Given the description of an element on the screen output the (x, y) to click on. 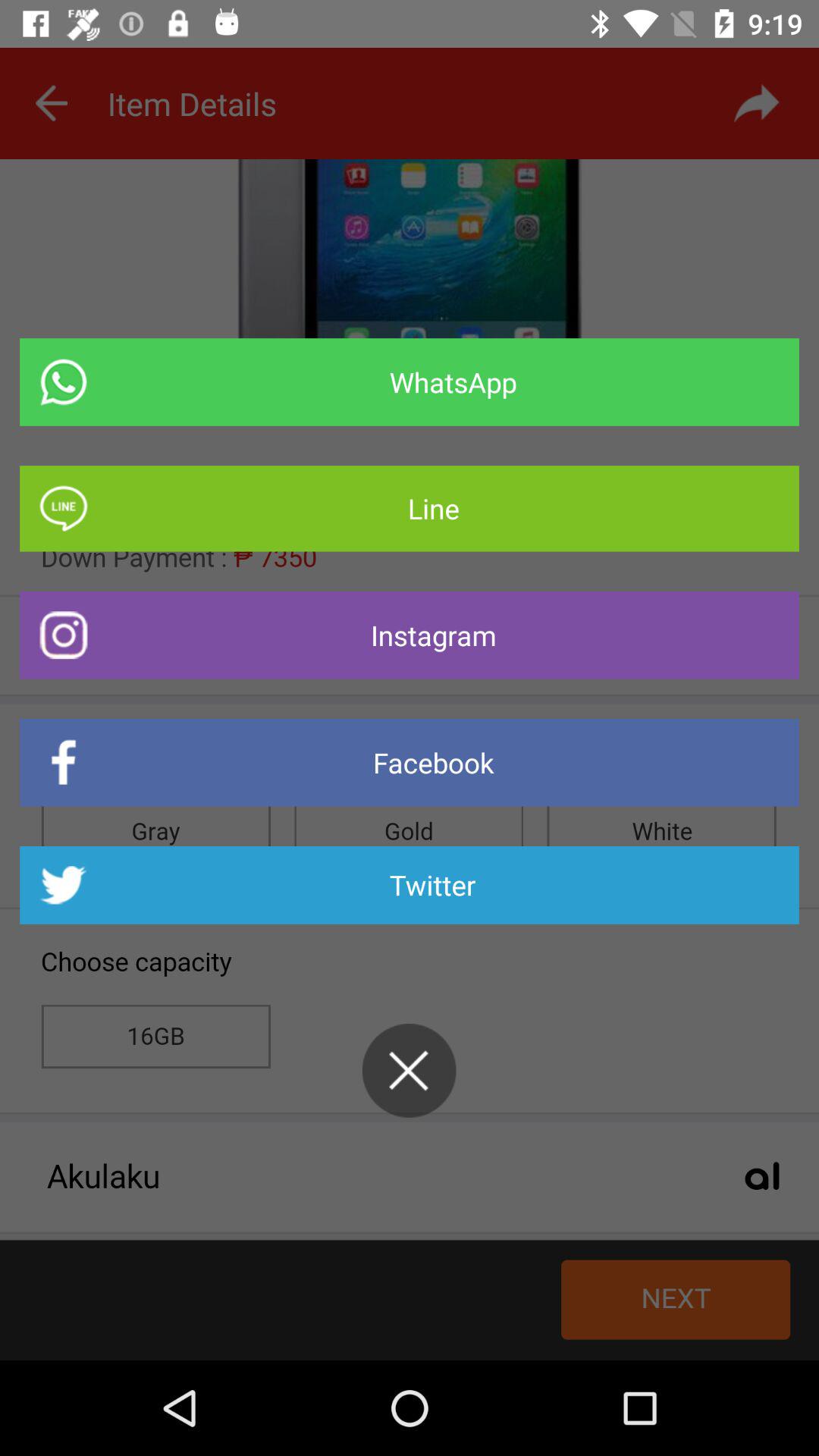
press the item below whatsapp item (409, 508)
